Given the description of an element on the screen output the (x, y) to click on. 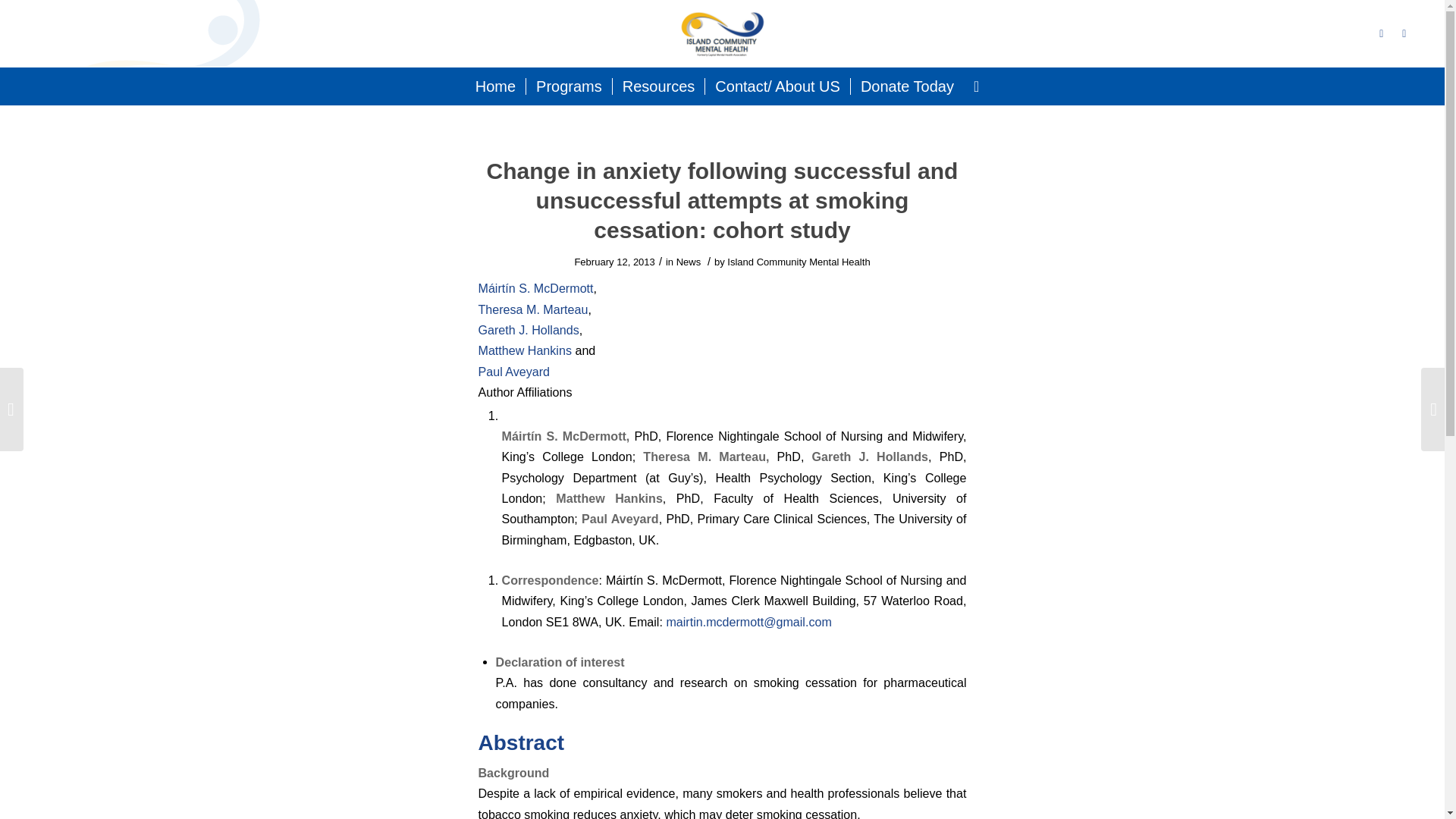
Programs (568, 86)
Theresa M. Marteau (532, 309)
Island Community Mental Health (797, 261)
Twitter (1381, 33)
Matthew Hankins (523, 350)
News (689, 261)
Facebook (1404, 33)
Paul Aveyard (513, 371)
Posts by Island Community Mental Health (797, 261)
